Given the description of an element on the screen output the (x, y) to click on. 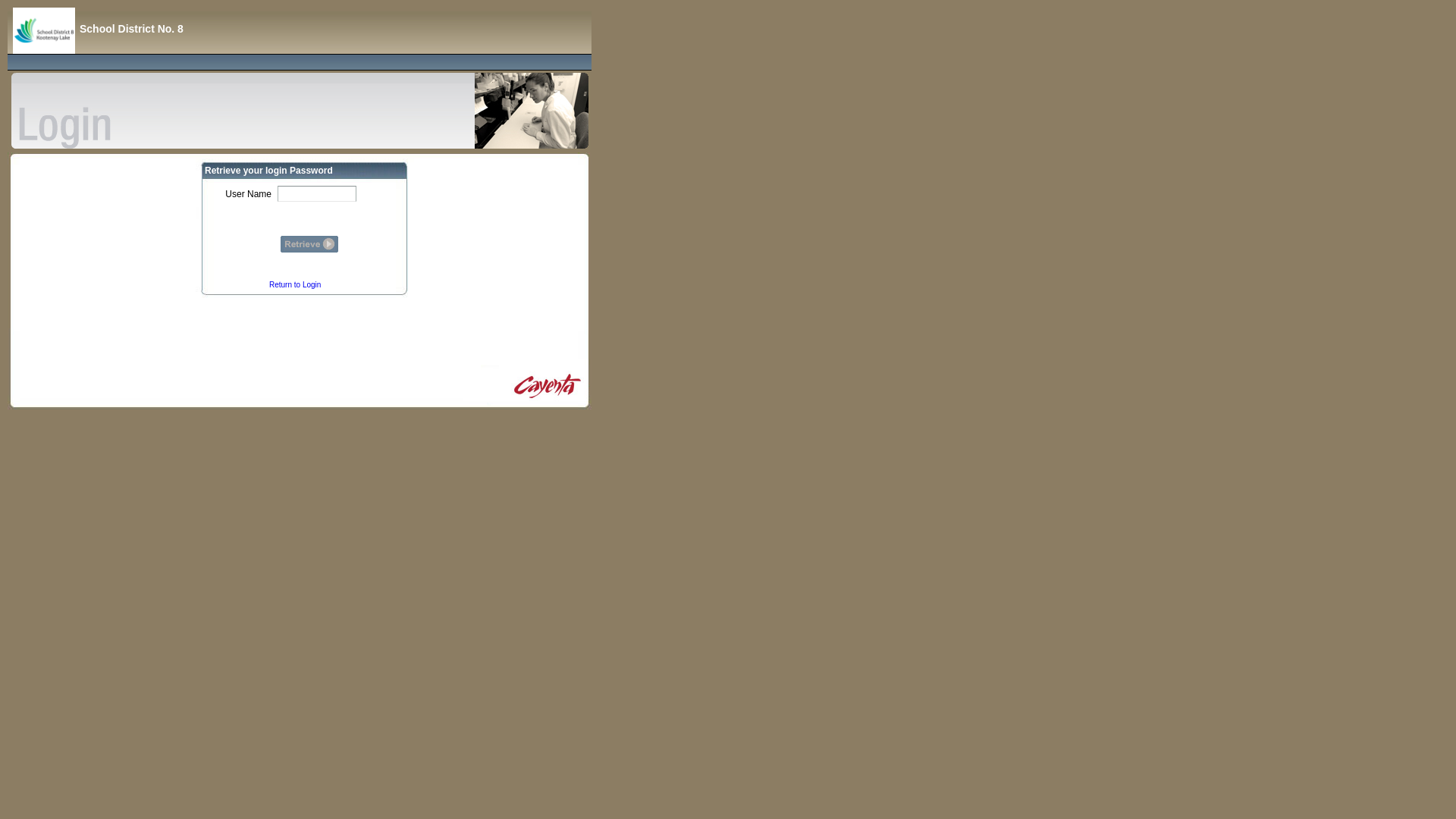
Return to Login Element type: text (294, 284)
